Given the description of an element on the screen output the (x, y) to click on. 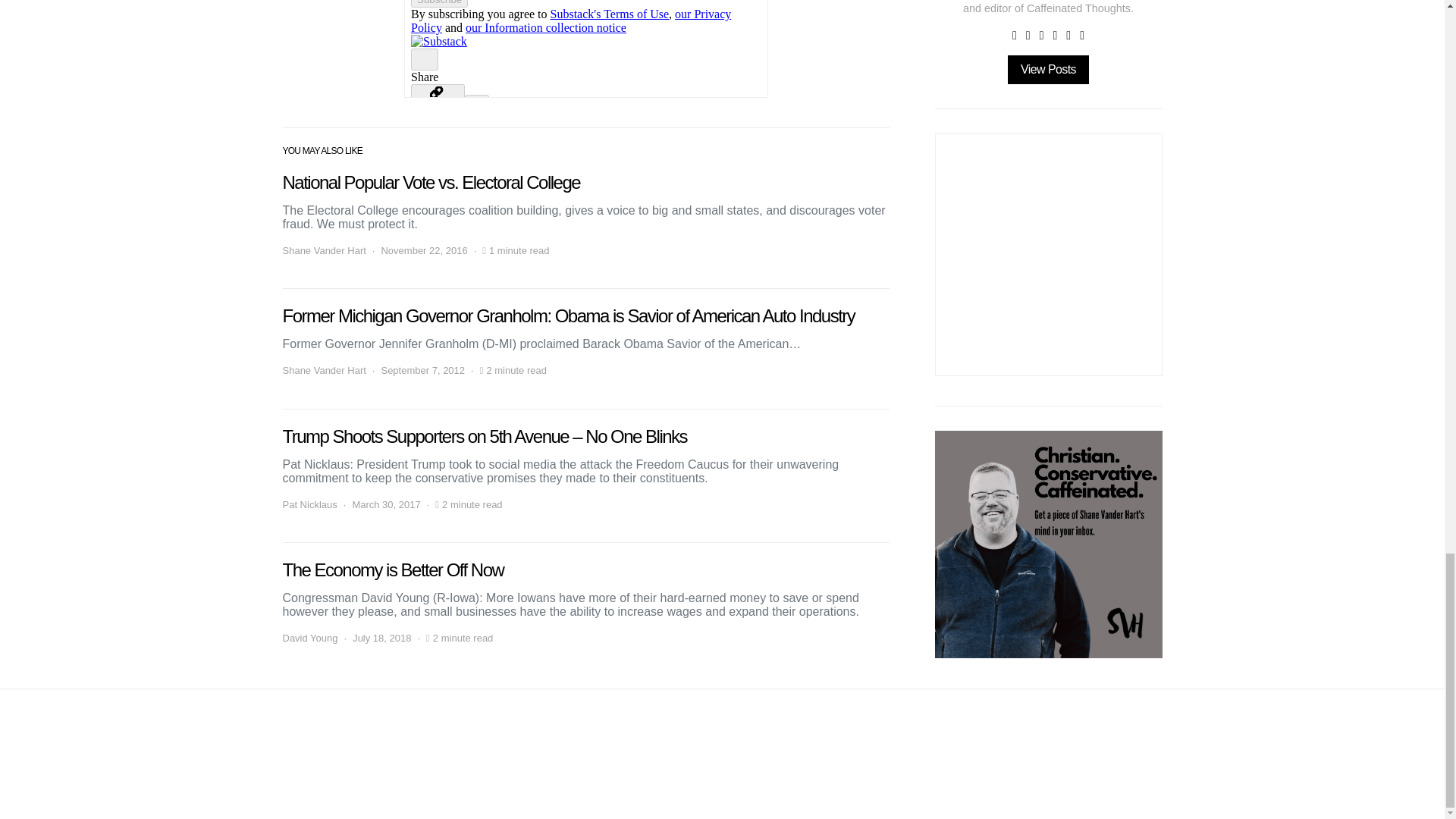
View all posts by Shane Vander Hart (323, 249)
View all posts by Shane Vander Hart (323, 370)
View all posts by David Young (309, 638)
View all posts by Pat Nicklaus (309, 504)
